Given the description of an element on the screen output the (x, y) to click on. 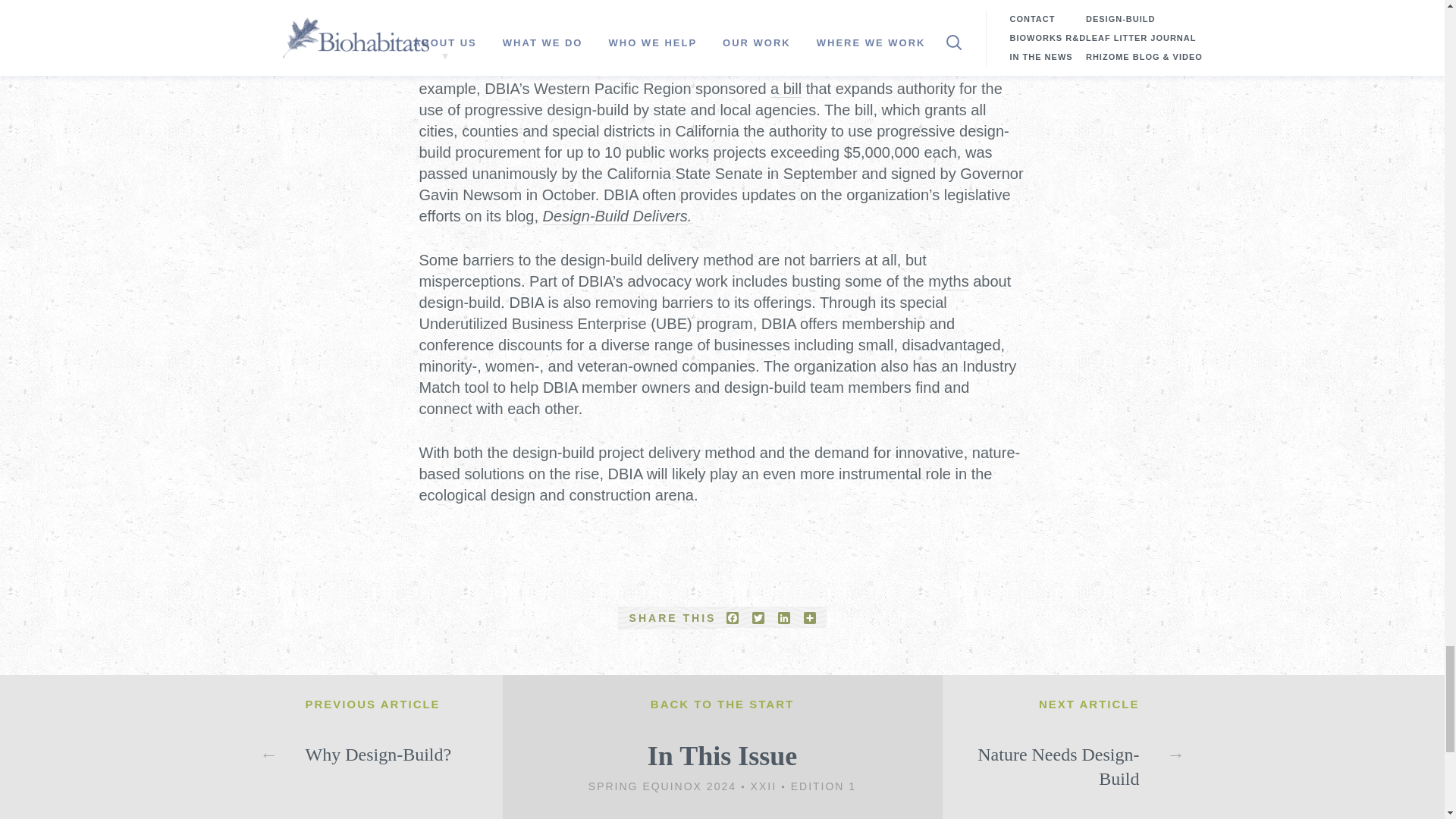
Twitter (758, 617)
Facebook (732, 617)
LinkedIn (783, 617)
